Given the description of an element on the screen output the (x, y) to click on. 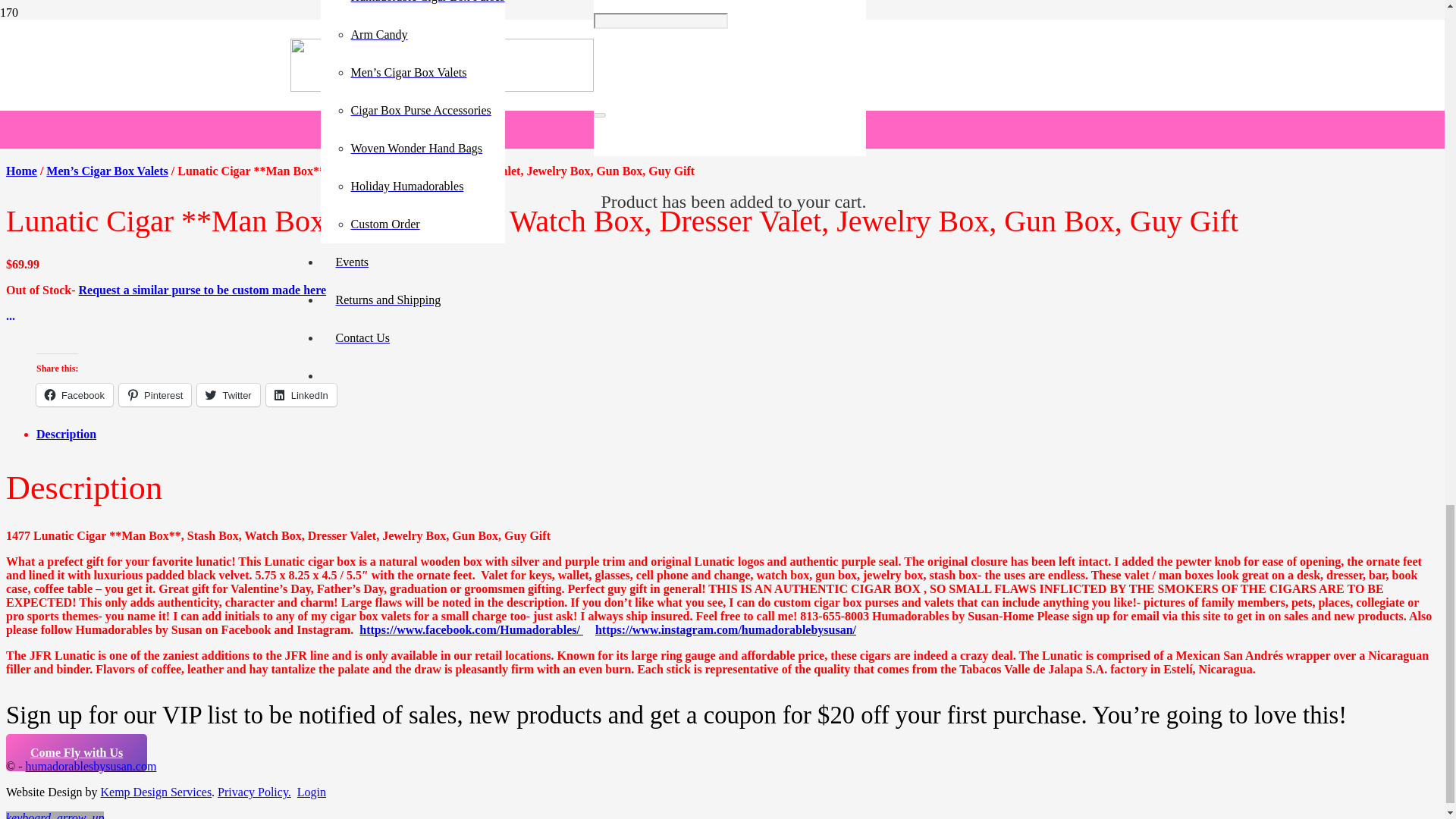
Request a similar purse to be custom made here (202, 289)
Click to share on Facebook (74, 395)
Home (21, 170)
Click to share on LinkedIn (301, 395)
Click to share on Twitter (227, 395)
Click to share on Pinterest (154, 395)
